Given the description of an element on the screen output the (x, y) to click on. 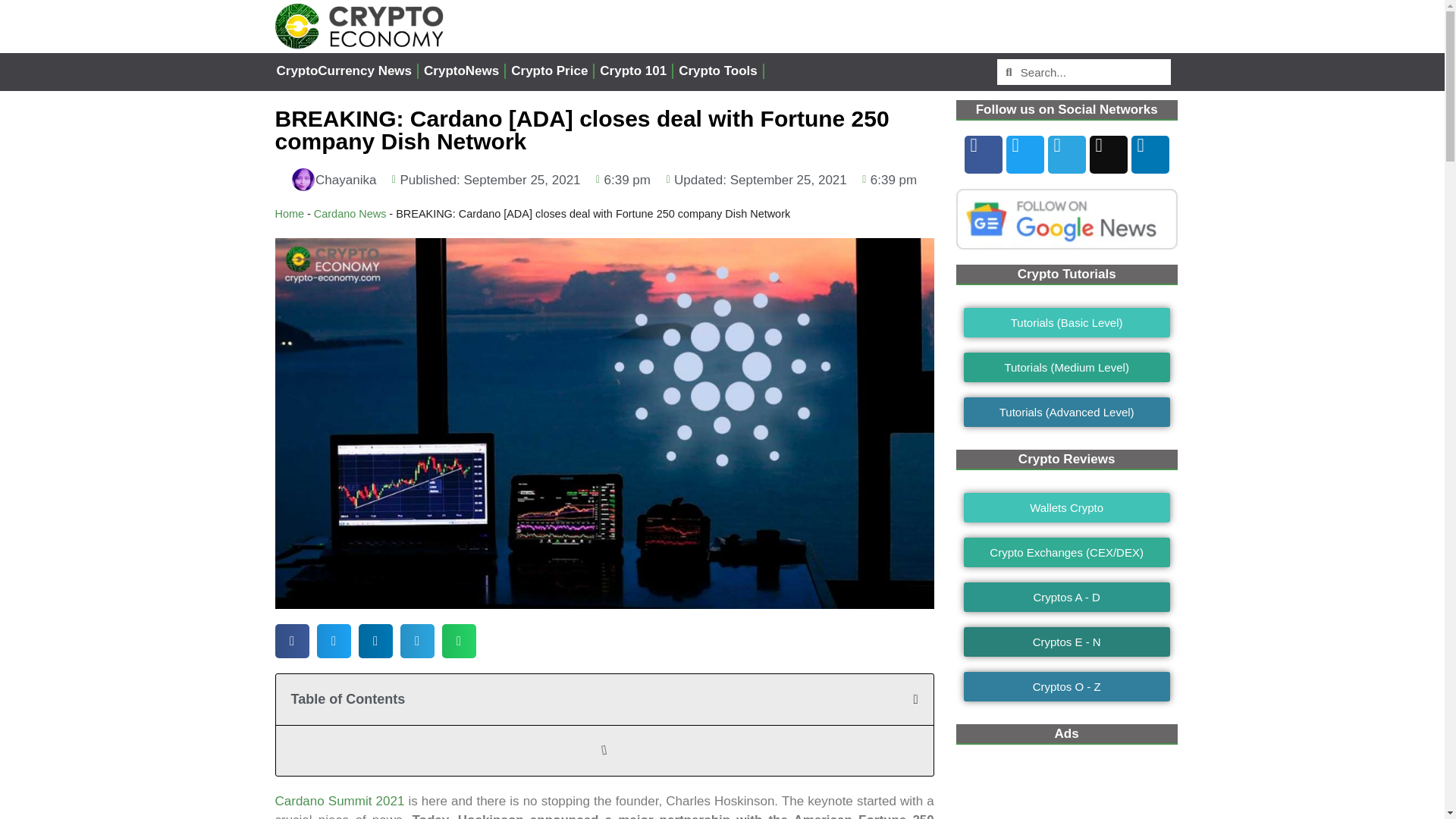
Crypto 101 (632, 70)
CryptoNews (461, 70)
CryptoCurrency News (343, 70)
Crypto Price (548, 70)
